Given the description of an element on the screen output the (x, y) to click on. 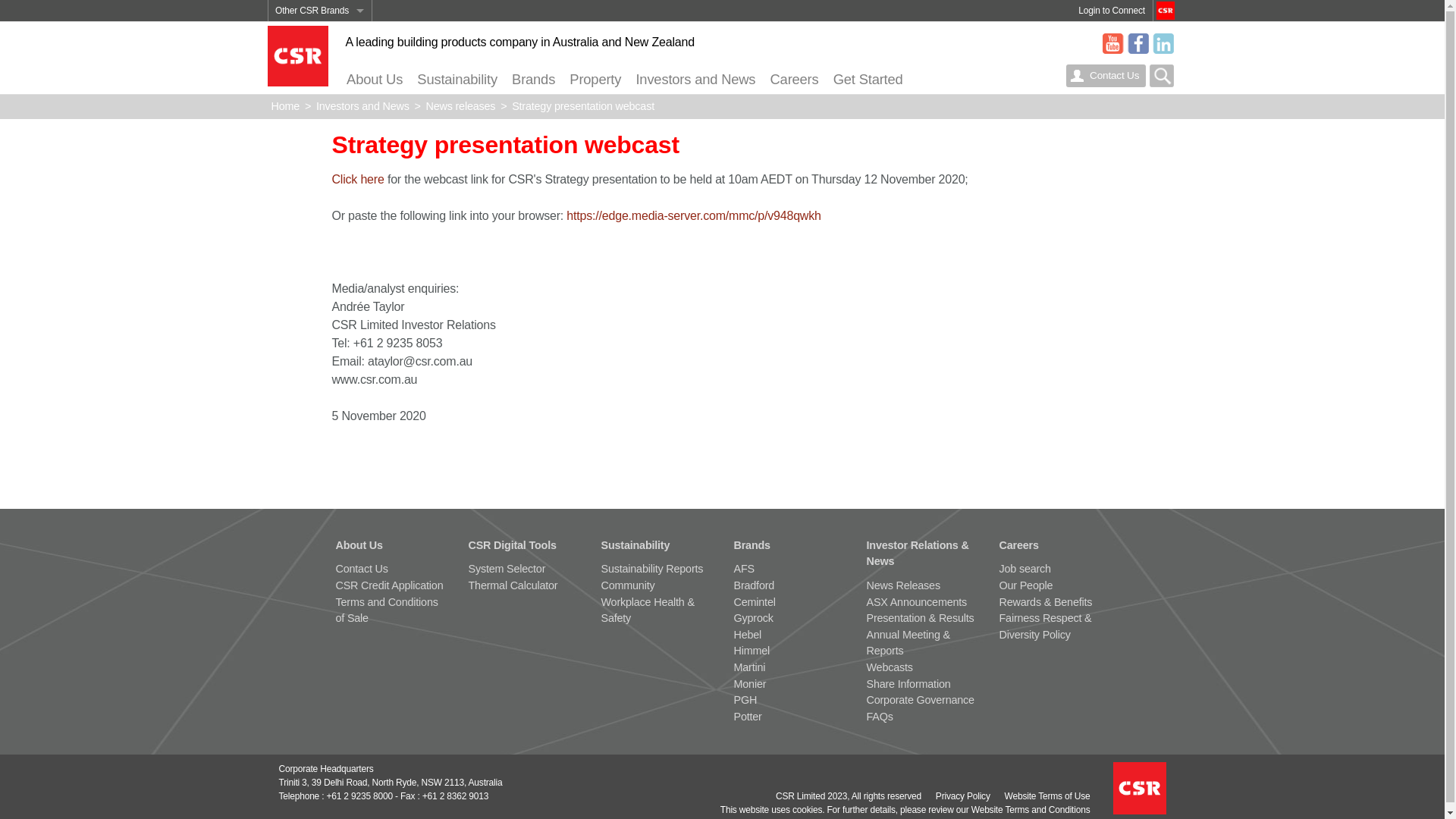
Himmel Element type: text (752, 650)
CSR New Zealand Element type: text (319, 286)
Careers Element type: text (1018, 545)
System Selector Element type: text (507, 568)
Investors and News Element type: text (362, 106)
Job search Element type: text (1025, 568)
Himmel Interior Systems Element type: text (319, 158)
Home Element type: text (285, 106)
Sustainability Reports Element type: text (651, 568)
Monier Roofing Element type: text (319, 201)
Potter Element type: text (748, 716)
Contact Us Element type: text (361, 568)
Gyprock Plasterboard Element type: text (319, 116)
Website Terms and Conditions Element type: text (1030, 808)
AFS Walling Solutions Element type: text (319, 31)
Property Element type: text (595, 79)
Our People Element type: text (1026, 585)
Investor Relations & News Element type: text (917, 553)
Gove Aluminium Element type: text (319, 307)
Bradford Element type: text (754, 585)
Sustainability Element type: text (634, 545)
Workplace Health & Safety Element type: text (646, 610)
Hebel Element type: text (748, 634)
Website Terms of Use Element type: text (1047, 795)
Corporate Governance Element type: text (919, 699)
AFS Element type: text (744, 568)
https://edge.media-server.com/mmc/p/v948qwkh Element type: text (693, 215)
Hebel Aerated Concrete Solutions Element type: text (319, 137)
Fairness Respect & Diversity Policy Element type: text (1045, 625)
Bradford Ventilation Element type: text (319, 73)
Other CSR Brands Element type: text (319, 10)
Annual Meeting & Reports Element type: text (907, 642)
Careers Element type: text (793, 79)
CSR Credit Application Element type: text (388, 585)
PGH Element type: text (745, 699)
FAQs Element type: text (879, 716)
Gyprock Element type: text (753, 617)
Click here Element type: text (358, 178)
Privacy Policy Element type: text (962, 795)
News Releases Element type: text (902, 585)
About Us Element type: text (358, 545)
Bradford Insulation Element type: text (319, 52)
Terms and Conditions of Sale Element type: text (386, 610)
Thermal Calculator Element type: text (513, 585)
Brands Element type: text (752, 545)
Rewards & Benefits Element type: text (1045, 602)
Martini Element type: text (749, 667)
Get Started Element type: text (867, 79)
Login to Connect Element type: text (1111, 10)
News releases Element type: text (460, 106)
Martini Polyester Insulation Element type: text (319, 180)
CSR Digital Tools Element type: text (512, 545)
About Us Element type: text (374, 79)
Cemintel Element type: text (754, 602)
Cemintel Fibre Cement Element type: text (319, 95)
Monier Element type: text (750, 683)
PGH Bricks Element type: text (319, 222)
Sustainability Element type: text (457, 79)
Investors and News Element type: text (695, 79)
Presentation & Results Element type: text (919, 617)
Share Information Element type: text (908, 683)
Community Element type: text (627, 585)
Brands Element type: text (532, 79)
CSR Australia Element type: text (319, 265)
Webcasts Element type: text (889, 667)
ASX Announcements Element type: text (916, 602)
